Given the description of an element on the screen output the (x, y) to click on. 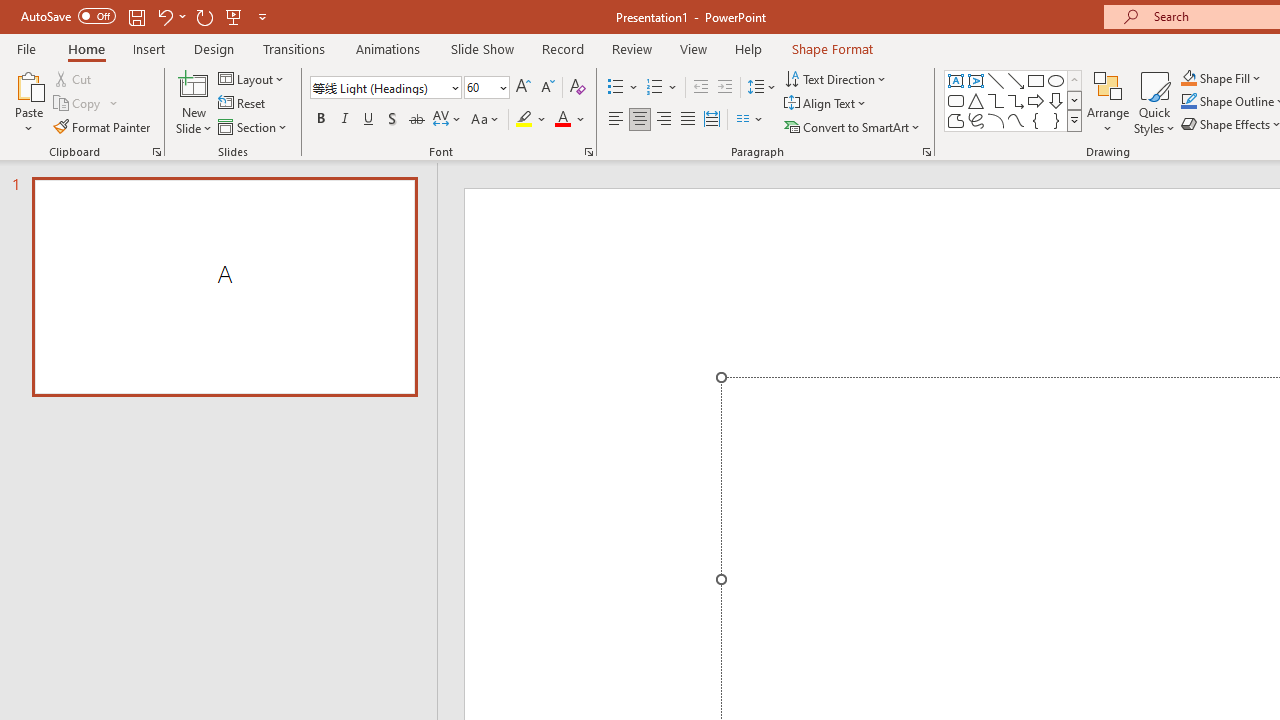
Shape Outline Blue, Accent 1 (1188, 101)
